Given the description of an element on the screen output the (x, y) to click on. 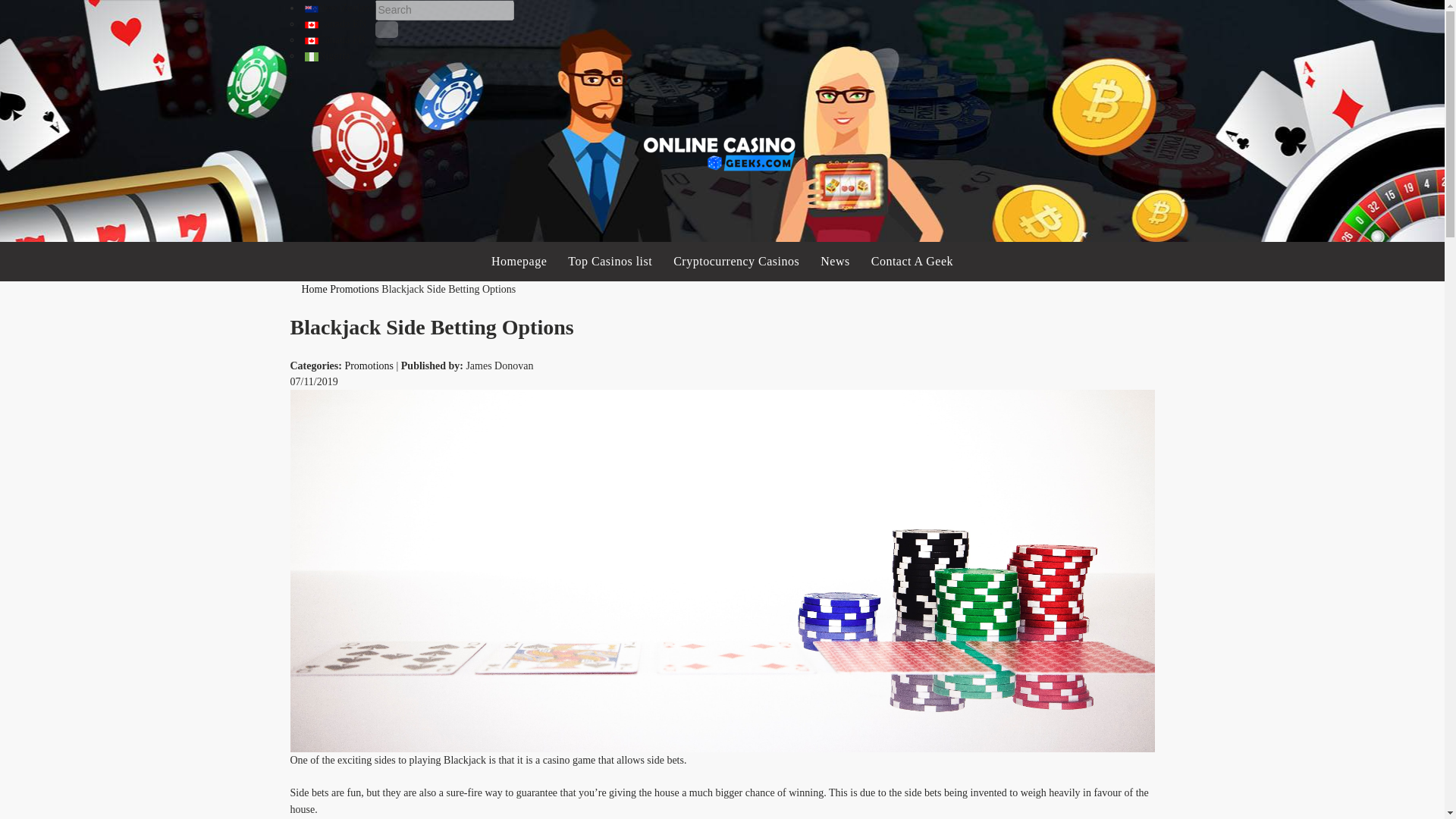
Promotions (368, 365)
Home (314, 288)
Home (314, 288)
Promotions (354, 288)
Blackjack Side Betting Options (448, 288)
Canada FR (335, 39)
Nigeria (327, 55)
Canada EN (335, 23)
Homepage (519, 261)
Cryptocurrency Casinos (735, 261)
Top Casinos list (609, 261)
Contact A Geek (911, 261)
New Zealand (339, 7)
Promotions (354, 288)
